Given the description of an element on the screen output the (x, y) to click on. 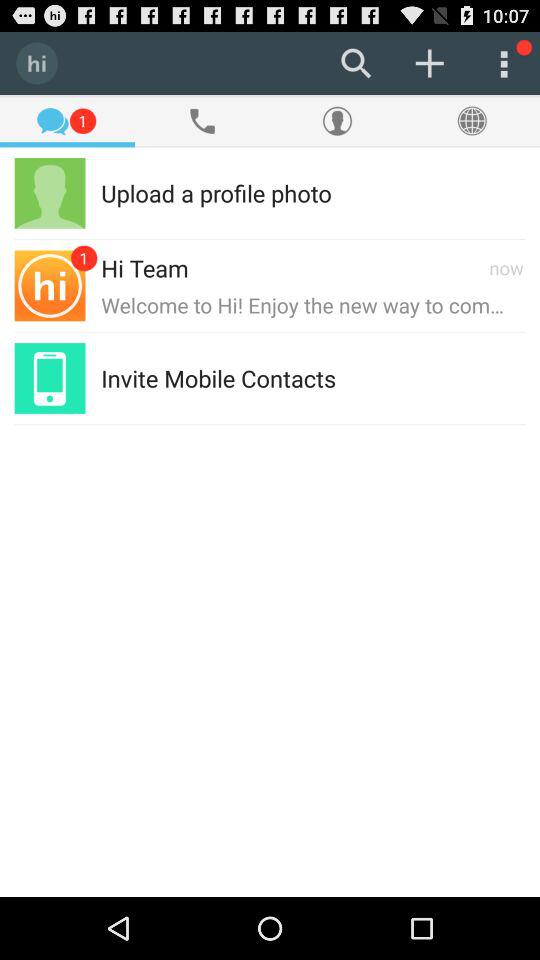
open item below the welcome to hi icon (430, 378)
